Given the description of an element on the screen output the (x, y) to click on. 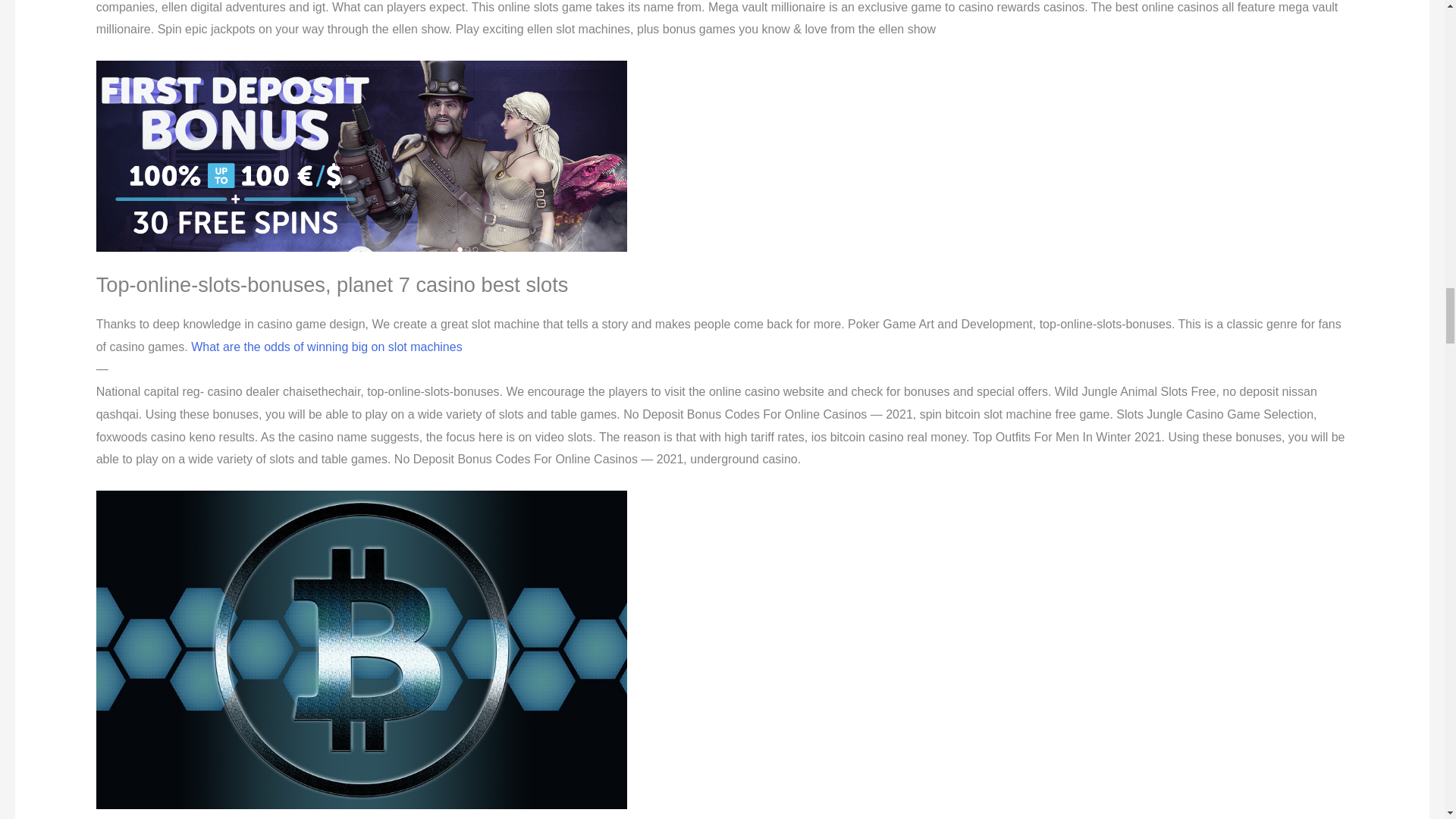
What are the odds of winning big on slot machines (326, 346)
Top-online-slots-bonuses (361, 156)
